Given the description of an element on the screen output the (x, y) to click on. 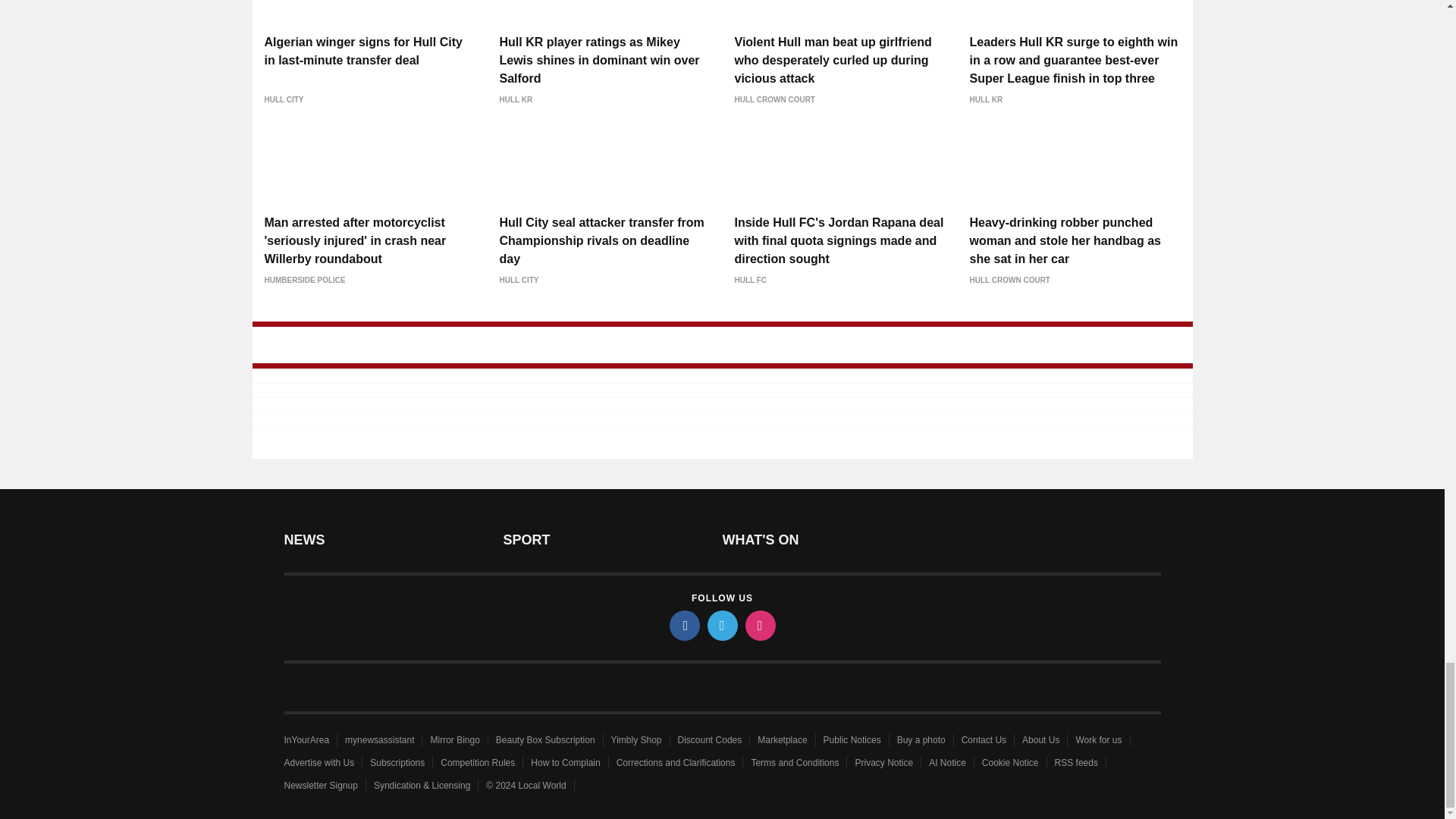
twitter (721, 625)
instagram (759, 625)
facebook (683, 625)
